Given the description of an element on the screen output the (x, y) to click on. 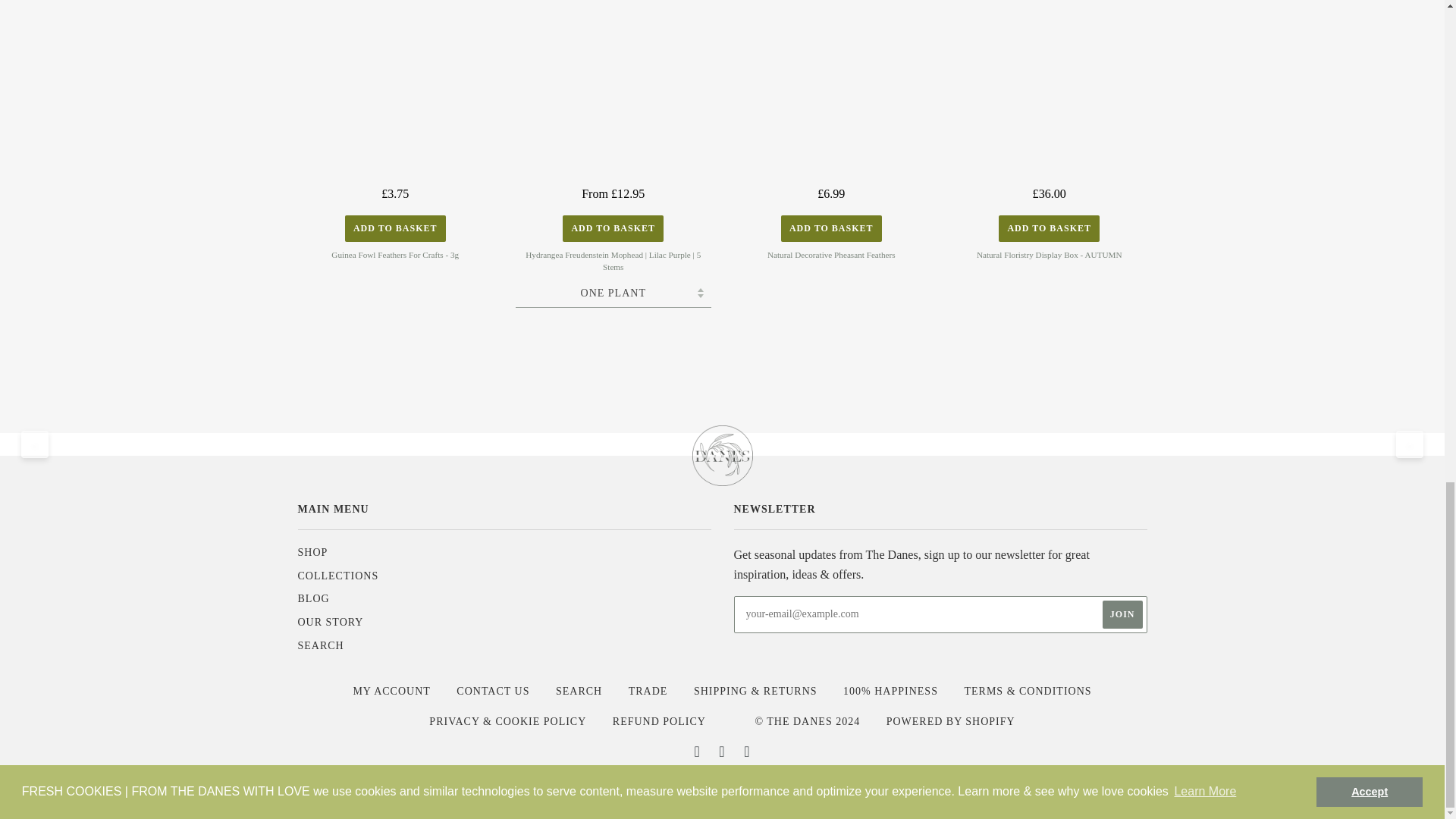
AMERICAN EXPRESS (497, 786)
DINERS CLUB (586, 786)
MASTERCARD (767, 786)
GOOGLE PAY (676, 786)
UNION PAY (902, 786)
PAYPAL (812, 786)
DISCOVER (631, 786)
APPLE PAY (541, 786)
SHOP PAY (857, 786)
MAESTRO (722, 786)
